Given the description of an element on the screen output the (x, y) to click on. 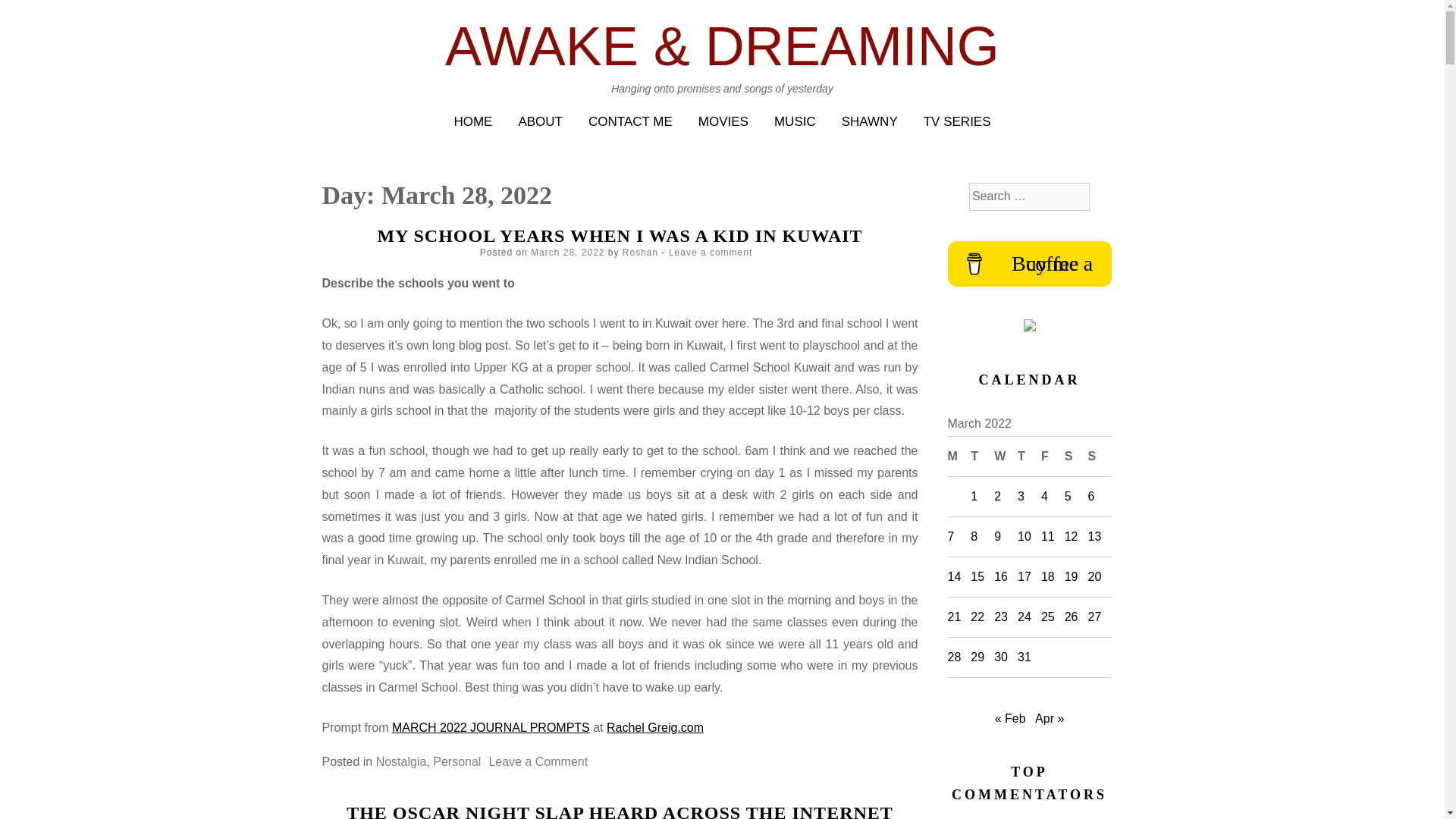
ABOUT (540, 121)
10 (1023, 535)
Buy me a coffee (1029, 263)
Roshan (640, 252)
MY SCHOOL YEARS WHEN I WAS A KID IN KUWAIT (619, 235)
Search (29, 13)
SHAWNY (869, 121)
Personal (456, 761)
11 (1047, 535)
HOME (472, 121)
